Given the description of an element on the screen output the (x, y) to click on. 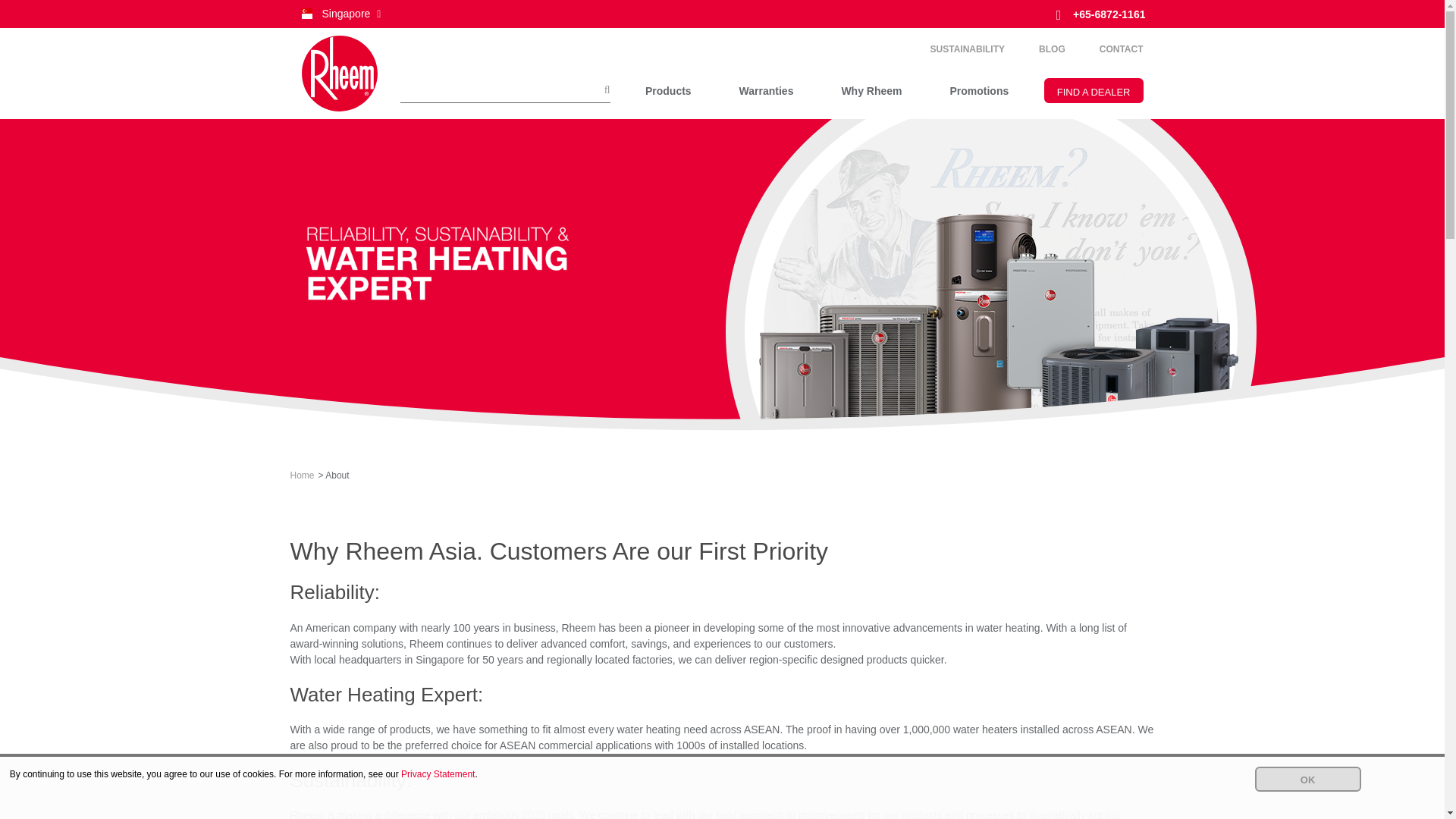
Go to Rheem. (301, 475)
Search for: (505, 90)
Singapore (339, 13)
